Given the description of an element on the screen output the (x, y) to click on. 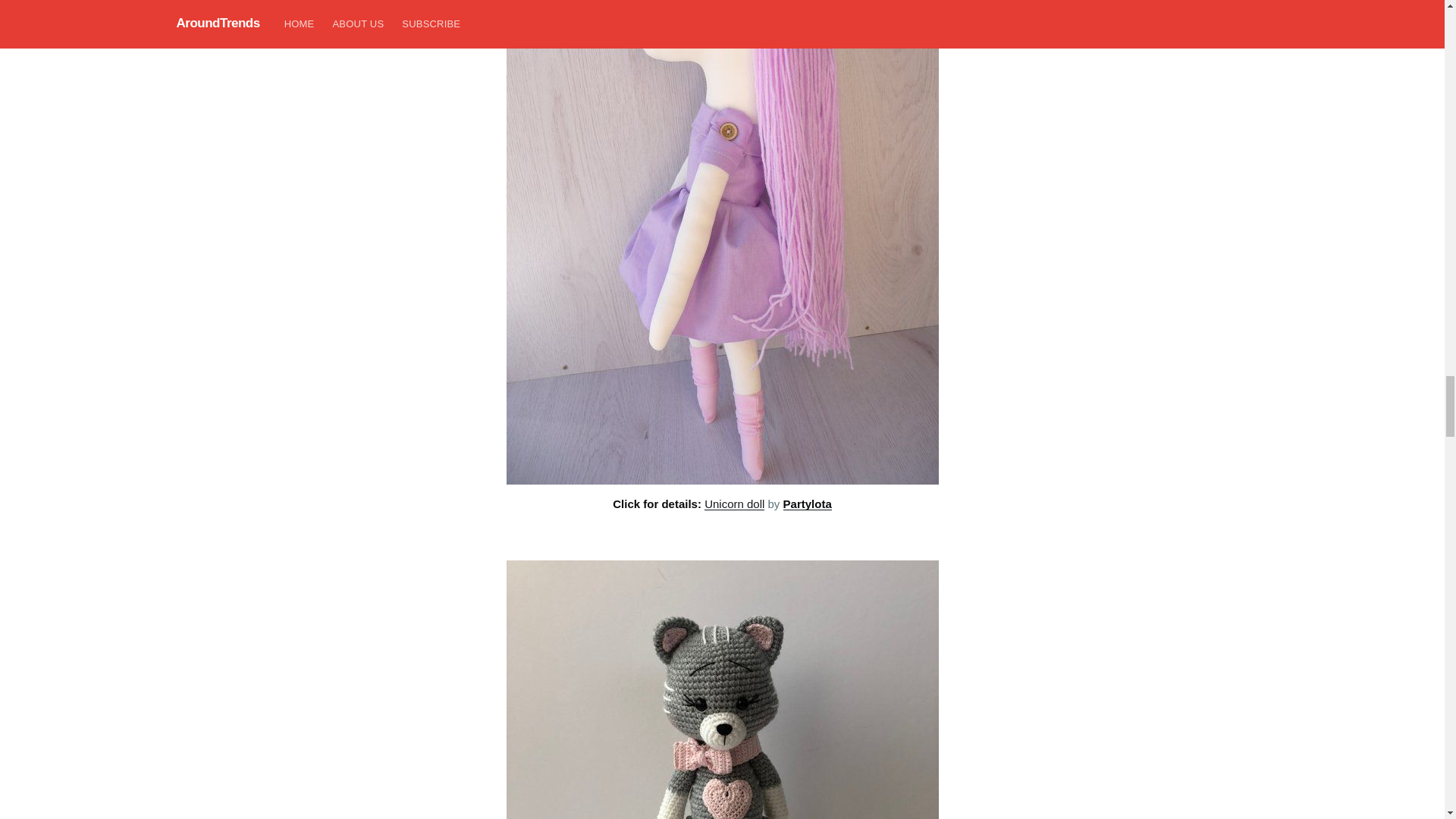
Partylota (807, 503)
Unicorn doll (734, 503)
